Given the description of an element on the screen output the (x, y) to click on. 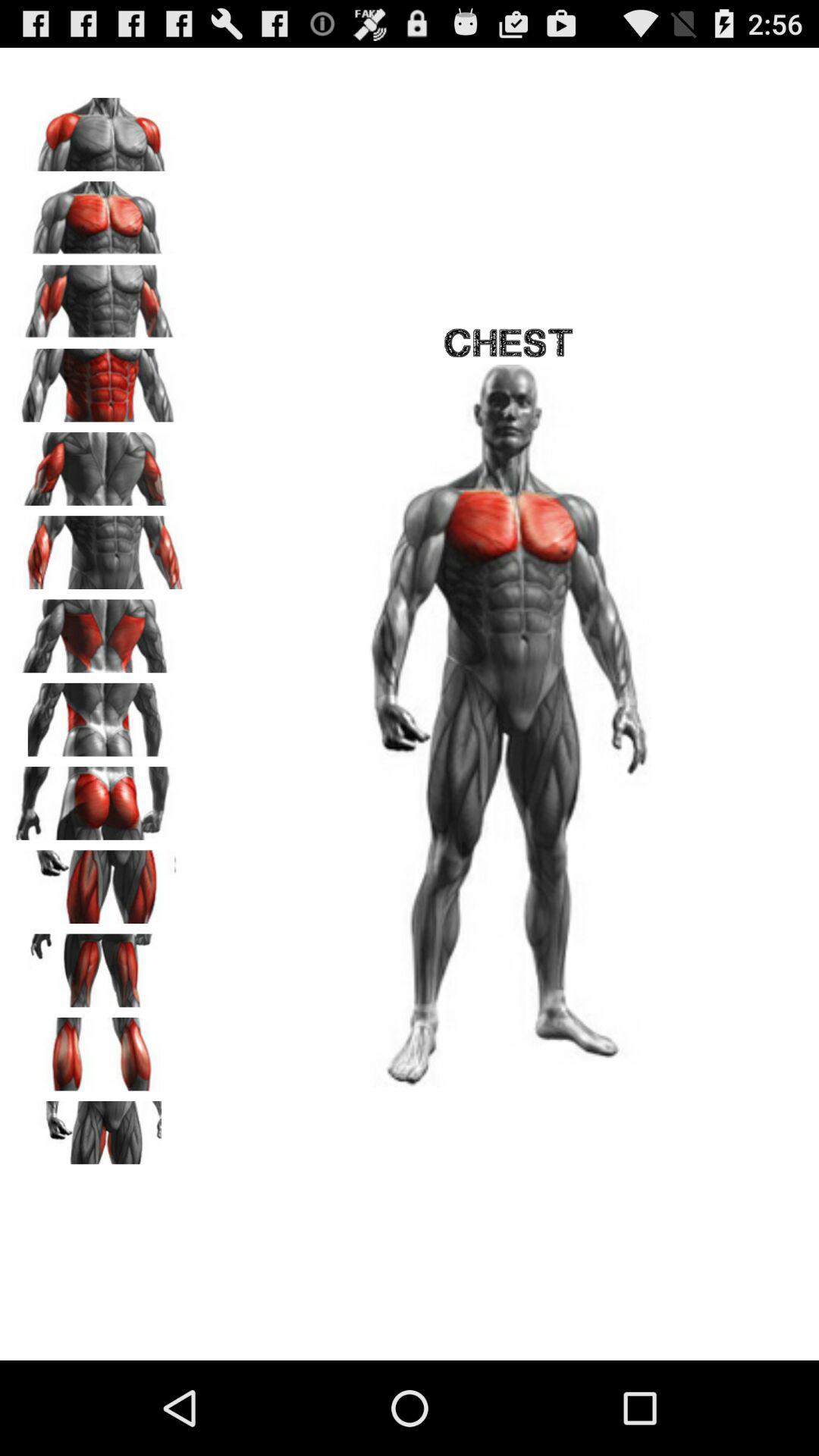
show body region (99, 1132)
